Given the description of an element on the screen output the (x, y) to click on. 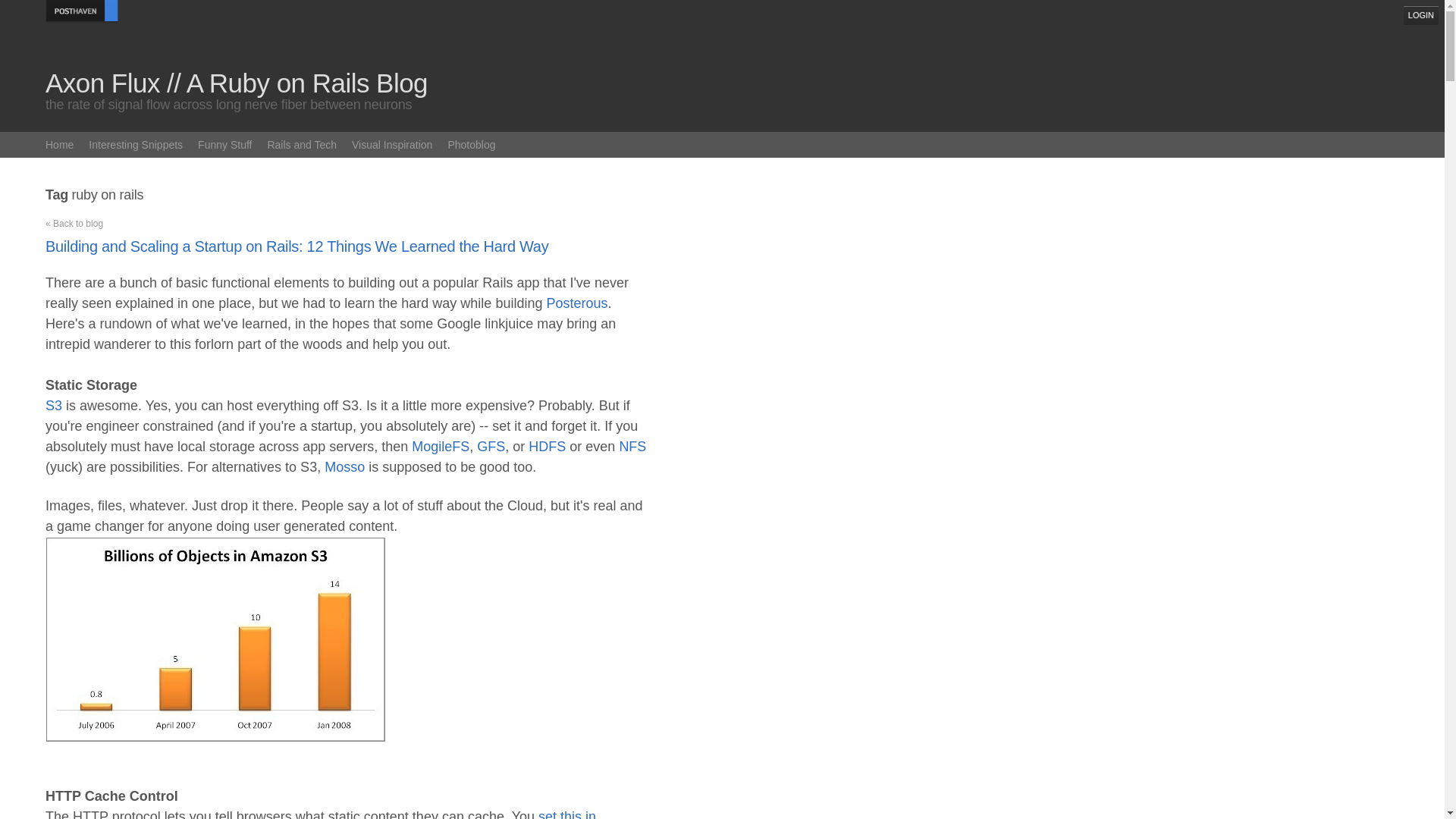
Funny Stuff (224, 144)
Photoblog (470, 144)
S3 (53, 405)
Home (59, 144)
Rails and Tech (301, 144)
Mosso (344, 467)
GFS (491, 446)
Interesting Snippets (135, 144)
MogileFS (440, 446)
LOGIN (1421, 14)
NFS (632, 446)
HDFS (547, 446)
set this in apache (320, 814)
Visual Inspiration (392, 144)
